Given the description of an element on the screen output the (x, y) to click on. 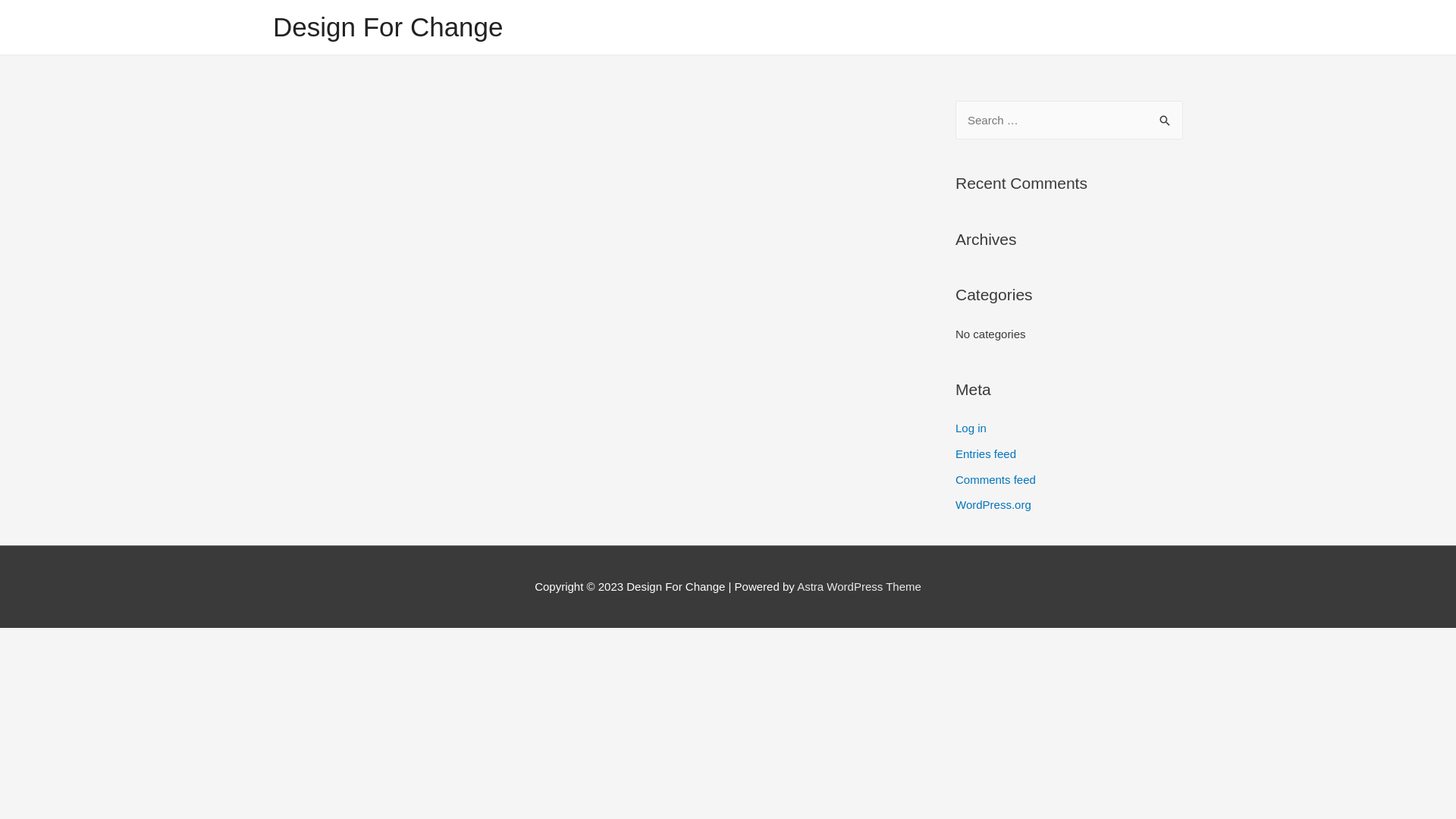
Comments feed Element type: text (995, 479)
Log in Element type: text (970, 427)
Search Element type: text (1165, 115)
Entries feed Element type: text (985, 453)
WordPress.org Element type: text (993, 504)
Astra WordPress Theme Element type: text (859, 586)
Design For Change Element type: text (388, 26)
